Given the description of an element on the screen output the (x, y) to click on. 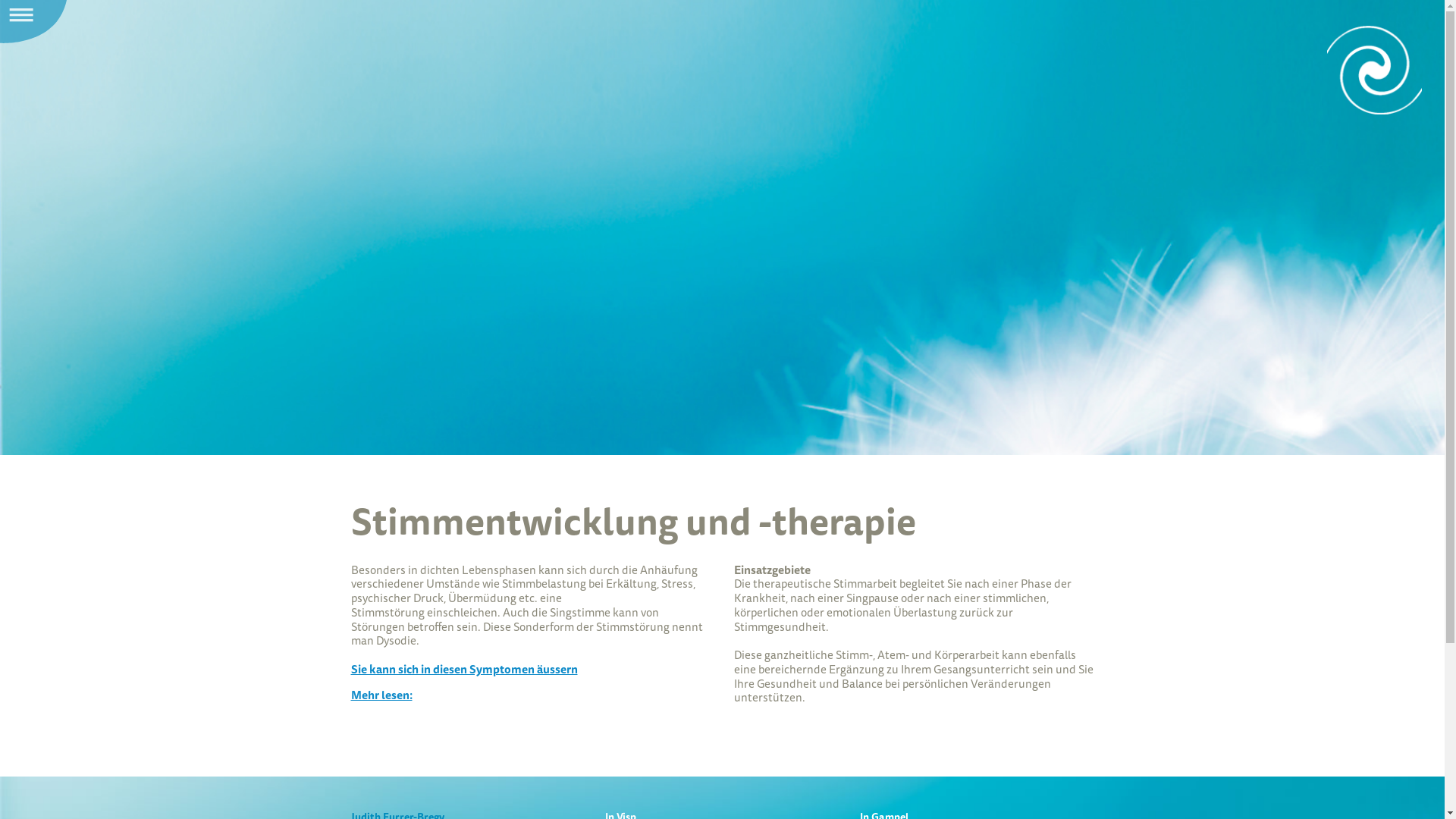
Atem und Stimme: Element type: text (1374, 69)
